Given the description of an element on the screen output the (x, y) to click on. 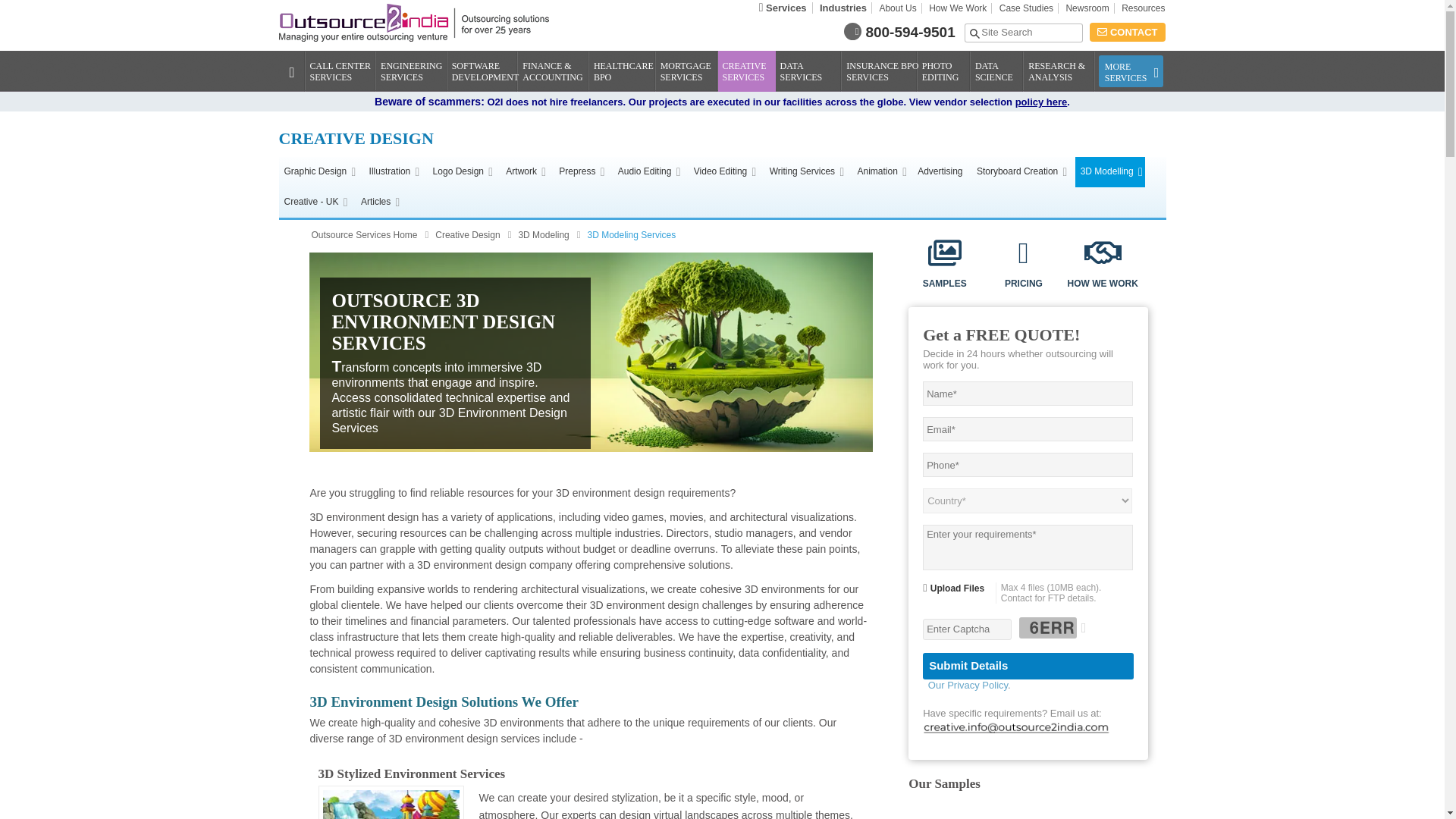
Submit Details (1028, 665)
Industries (843, 7)
3D Stylized Environment Services (391, 802)
CALL CENTER SERVICES (344, 67)
About Us (898, 8)
3D Environment Design Services (590, 352)
Services (783, 7)
CONTACT (1126, 31)
800-594-9501 (909, 32)
Newsroom (1087, 8)
